Given the description of an element on the screen output the (x, y) to click on. 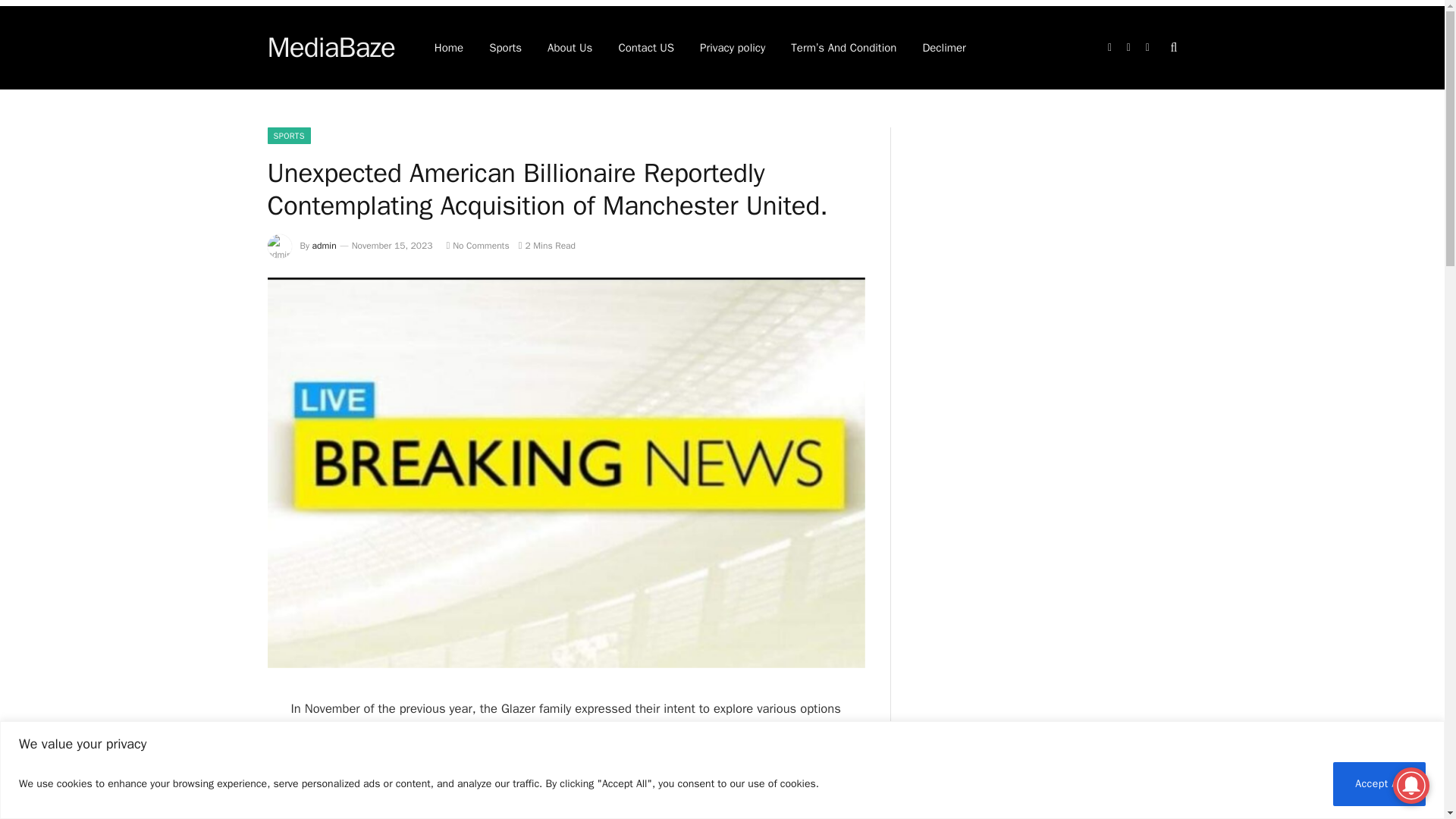
MediaBaze (330, 47)
Contact US (646, 47)
MediaBaze (330, 47)
Posts by admin (324, 245)
Accept All (1379, 783)
No Comments (476, 245)
admin (324, 245)
SPORTS (288, 135)
Privacy policy (732, 47)
